Given the description of an element on the screen output the (x, y) to click on. 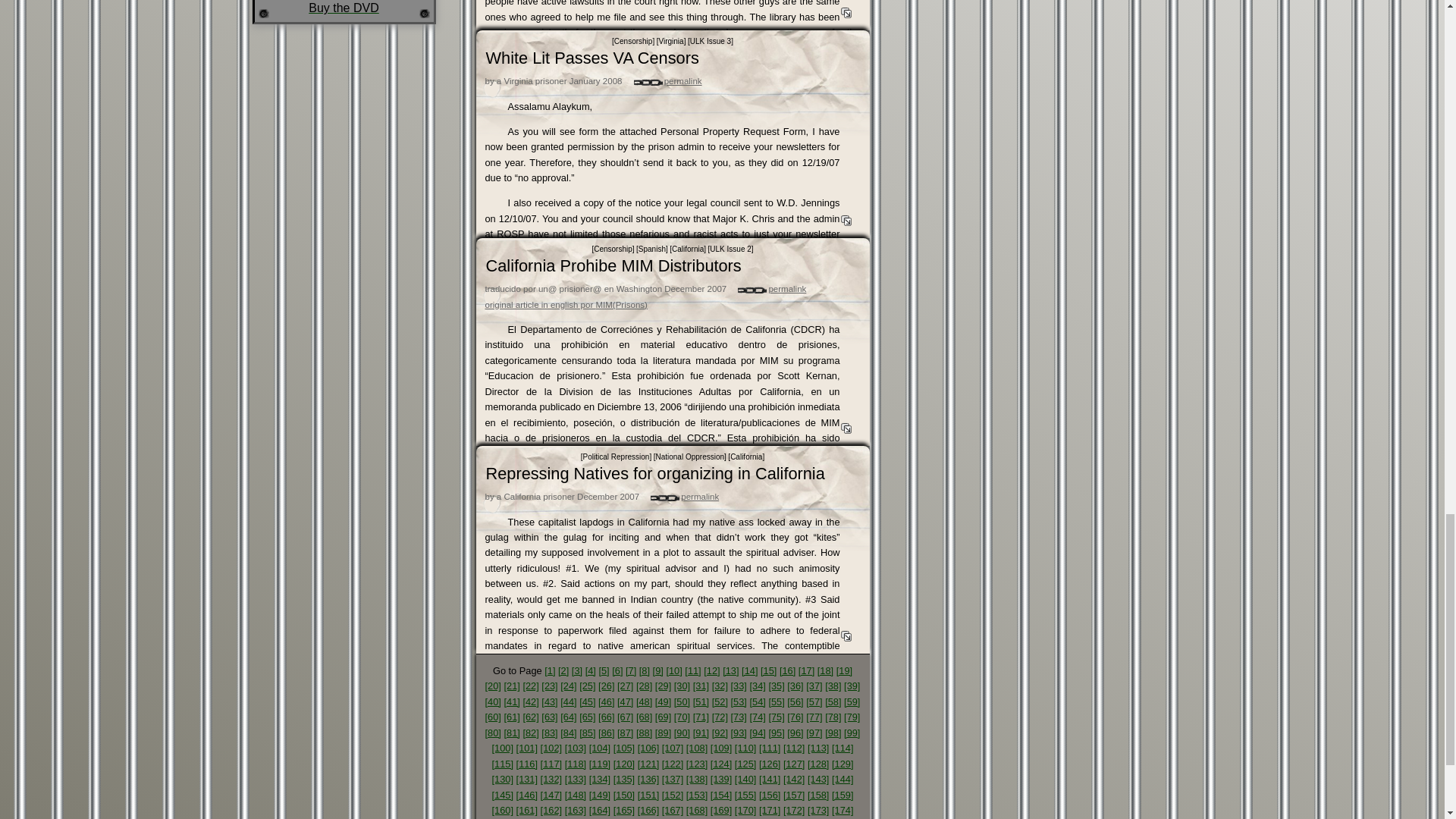
Buy the DVD (344, 7)
